Given the description of an element on the screen output the (x, y) to click on. 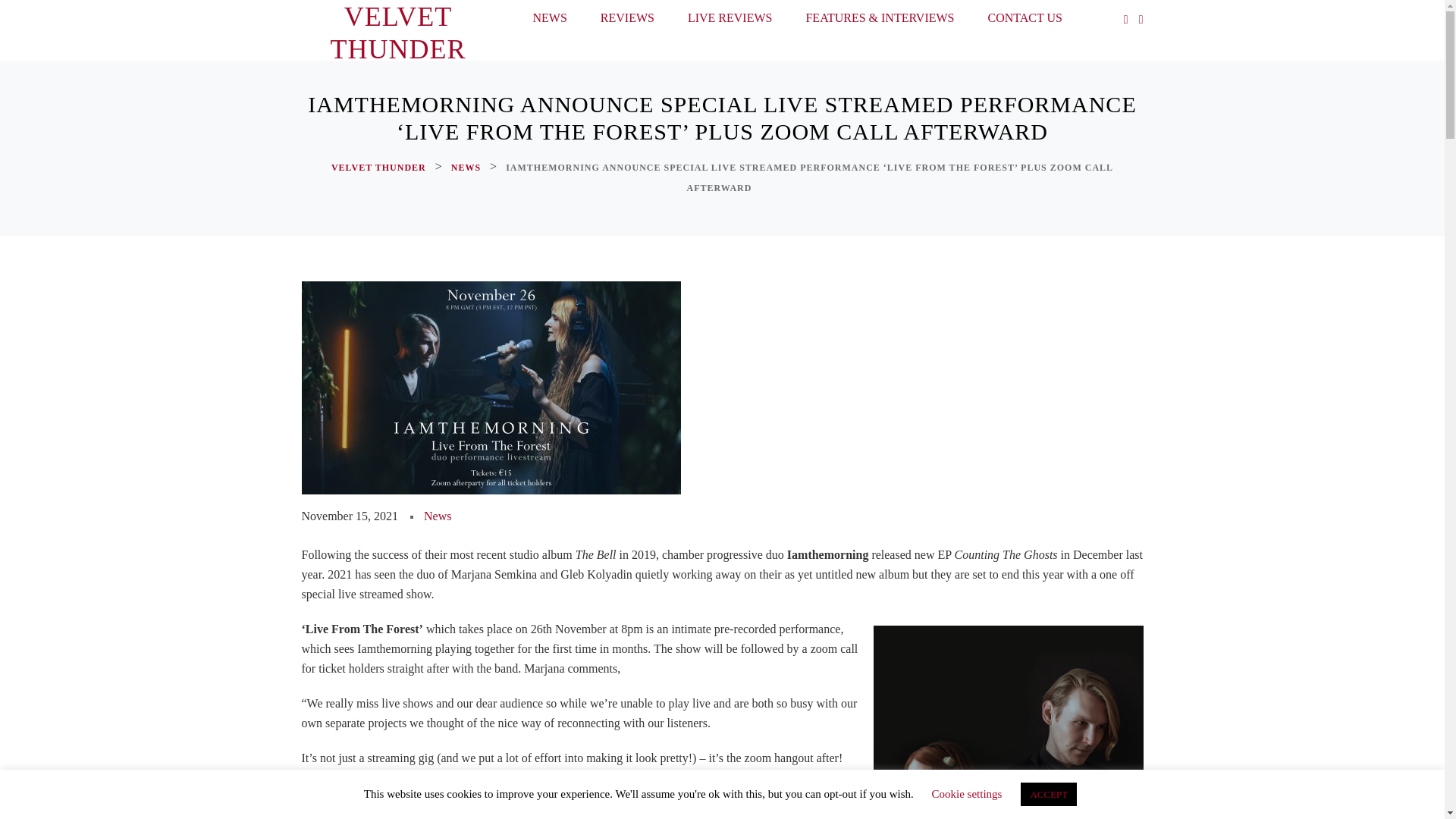
VELVET THUNDER (380, 167)
Go to VELVET THUNDER. (380, 167)
VELVET THUNDER (398, 33)
NEWS (548, 21)
NEWS (467, 167)
News (437, 516)
CONTACT US (1024, 21)
Go to the News Category archives. (467, 167)
LIVE REVIEWS (729, 21)
REVIEWS (627, 21)
